Given the description of an element on the screen output the (x, y) to click on. 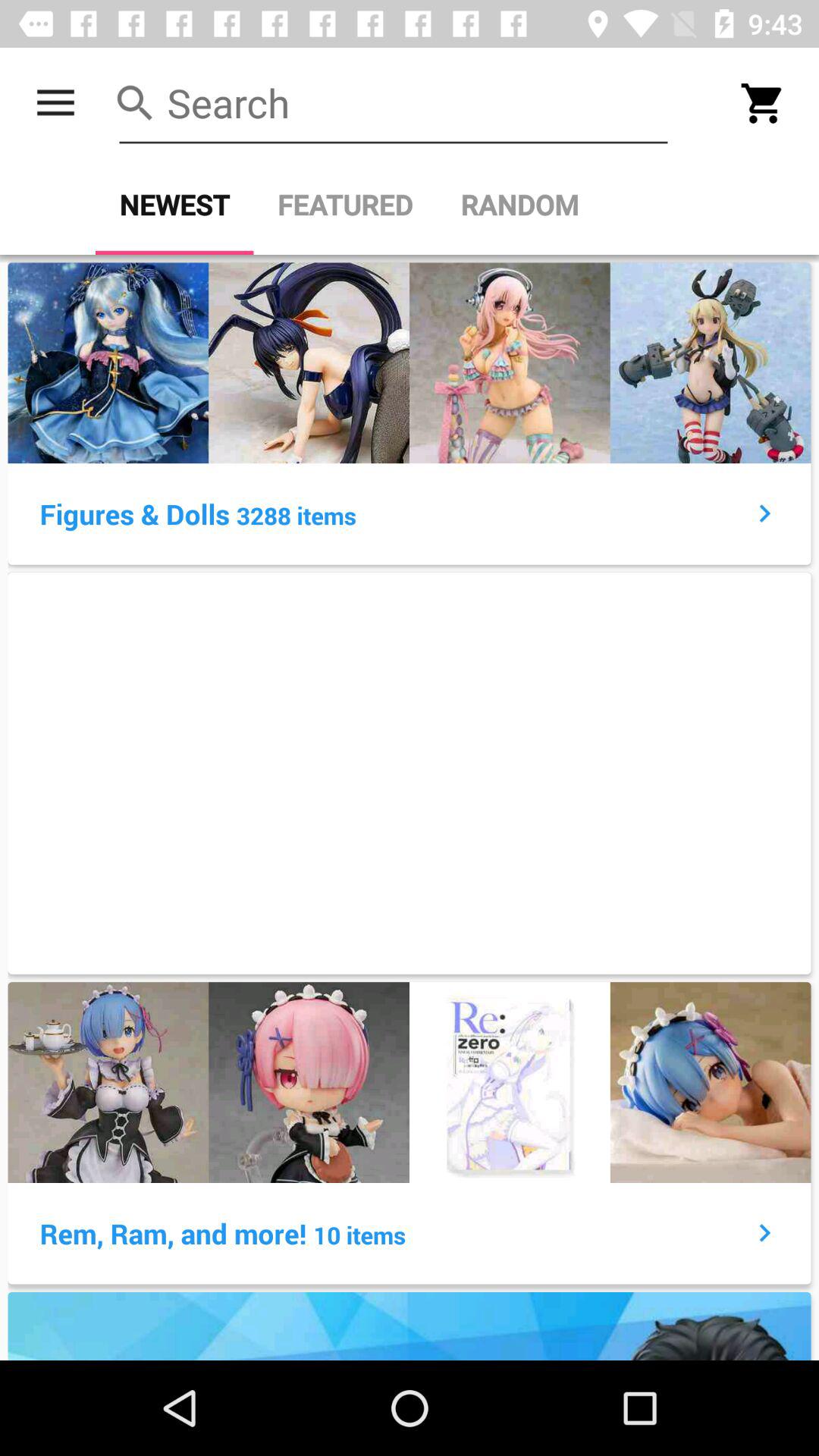
search option (393, 103)
